Given the description of an element on the screen output the (x, y) to click on. 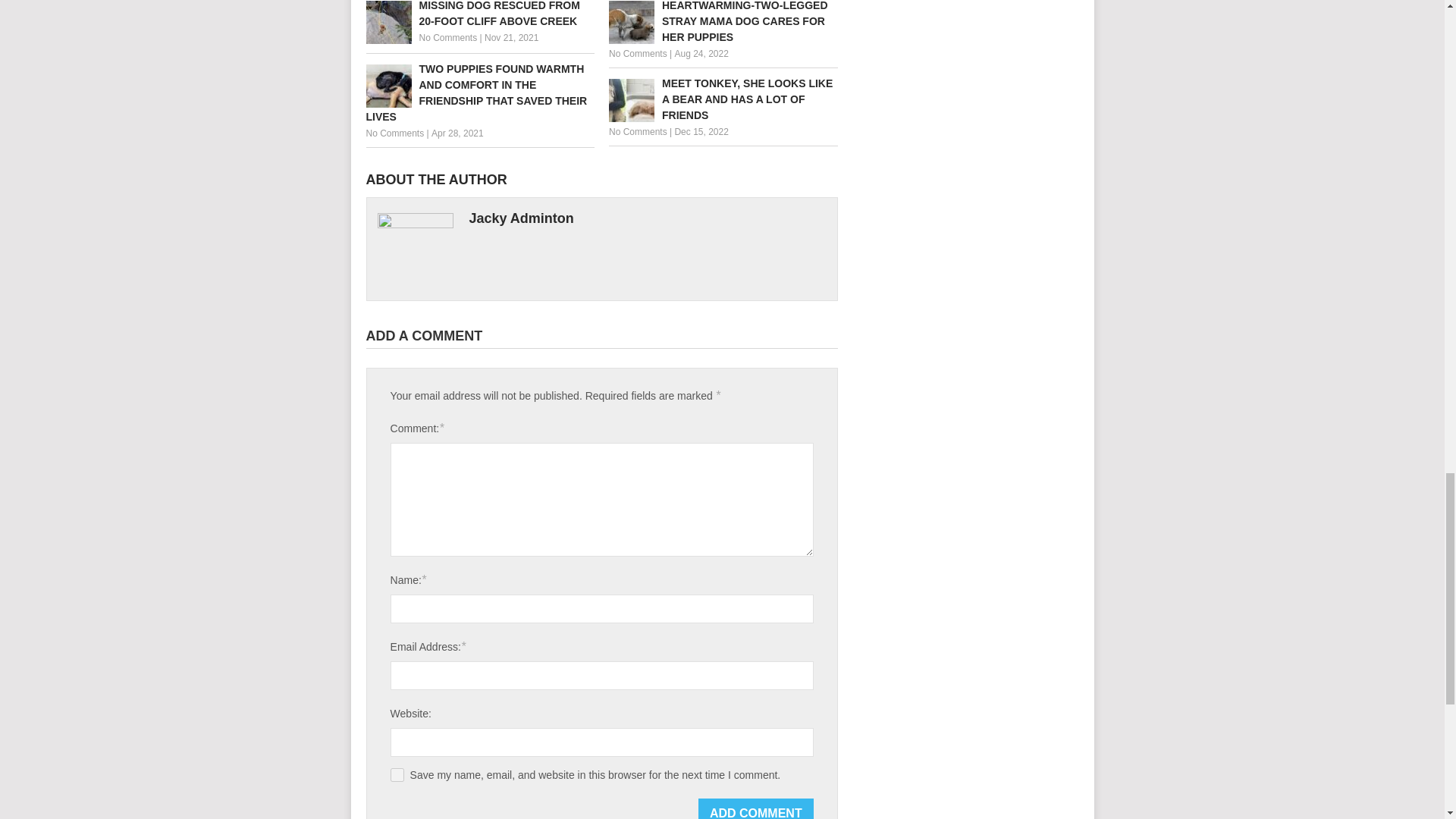
Missing Dog Rescued From 20-Foot Cliff Above Creek (479, 14)
Add Comment (755, 808)
Meet Tonkey, She Looks Like A Bear And Has A Lot Of Friends (723, 99)
HEARTWARMING-TWO-LEGGED STRAY MAMA DOG CARES FOR HER PUPPIES (723, 22)
MEET TONKEY, SHE LOOKS LIKE A BEAR AND HAS A LOT OF FRIENDS (723, 99)
No Comments (448, 37)
HEARTWARMING-TWO-LEGGED STRAY MAMA DOG CARES FOR HER PUPPIES (723, 22)
No Comments (394, 132)
